Given the description of an element on the screen output the (x, y) to click on. 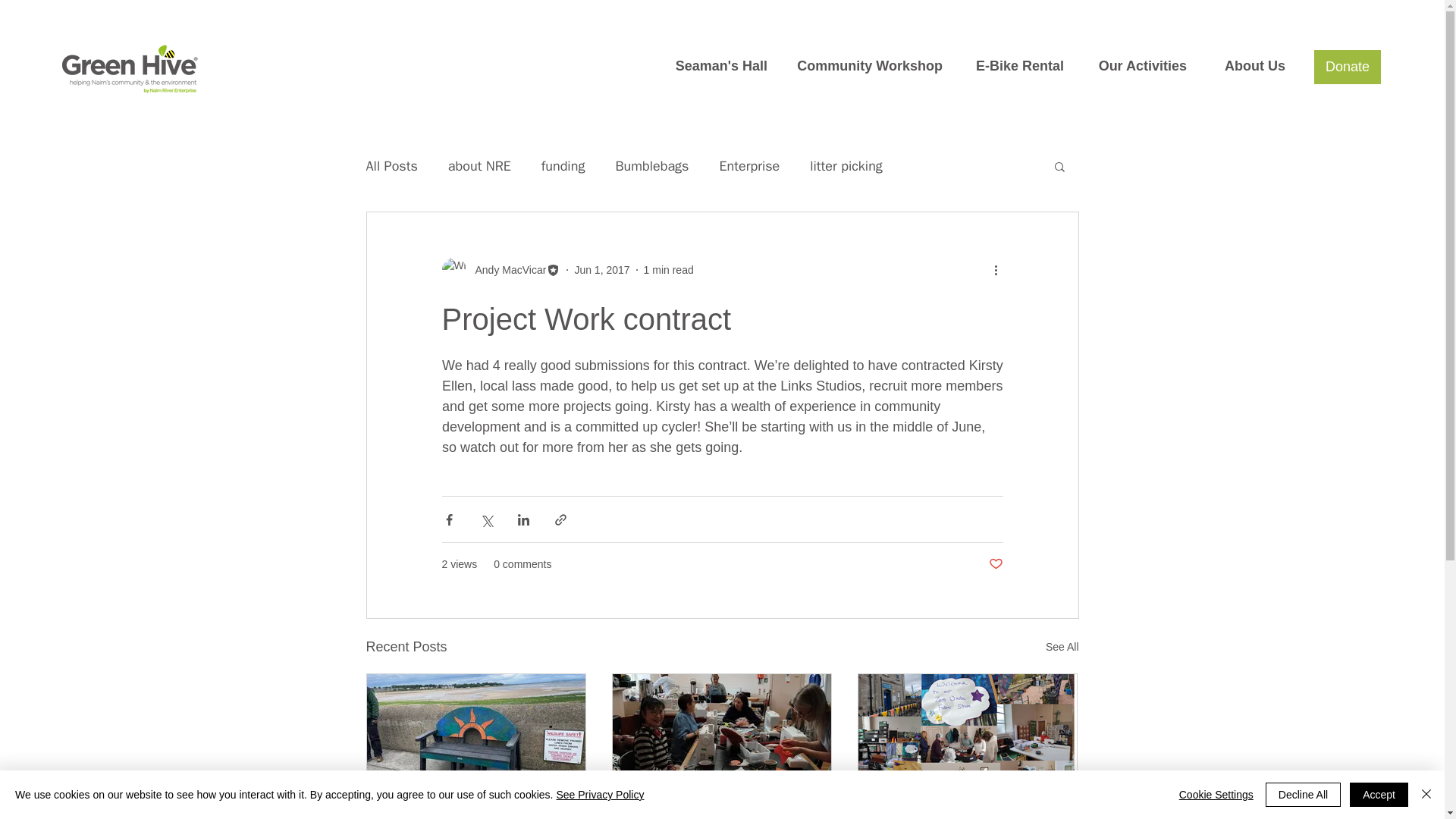
Our Activities (1136, 66)
funding (563, 166)
Andy MacVicar (500, 269)
E-Bike Rental (1014, 66)
See All (1061, 647)
Community Workshop (865, 66)
Post not marked as liked (995, 564)
Jun 1, 2017 (600, 269)
About Us (1247, 66)
1 min read (668, 269)
Donate (1347, 66)
Seaman's Hall (714, 66)
All Posts (390, 166)
Bumblebags (651, 166)
about NRE (479, 166)
